Given the description of an element on the screen output the (x, y) to click on. 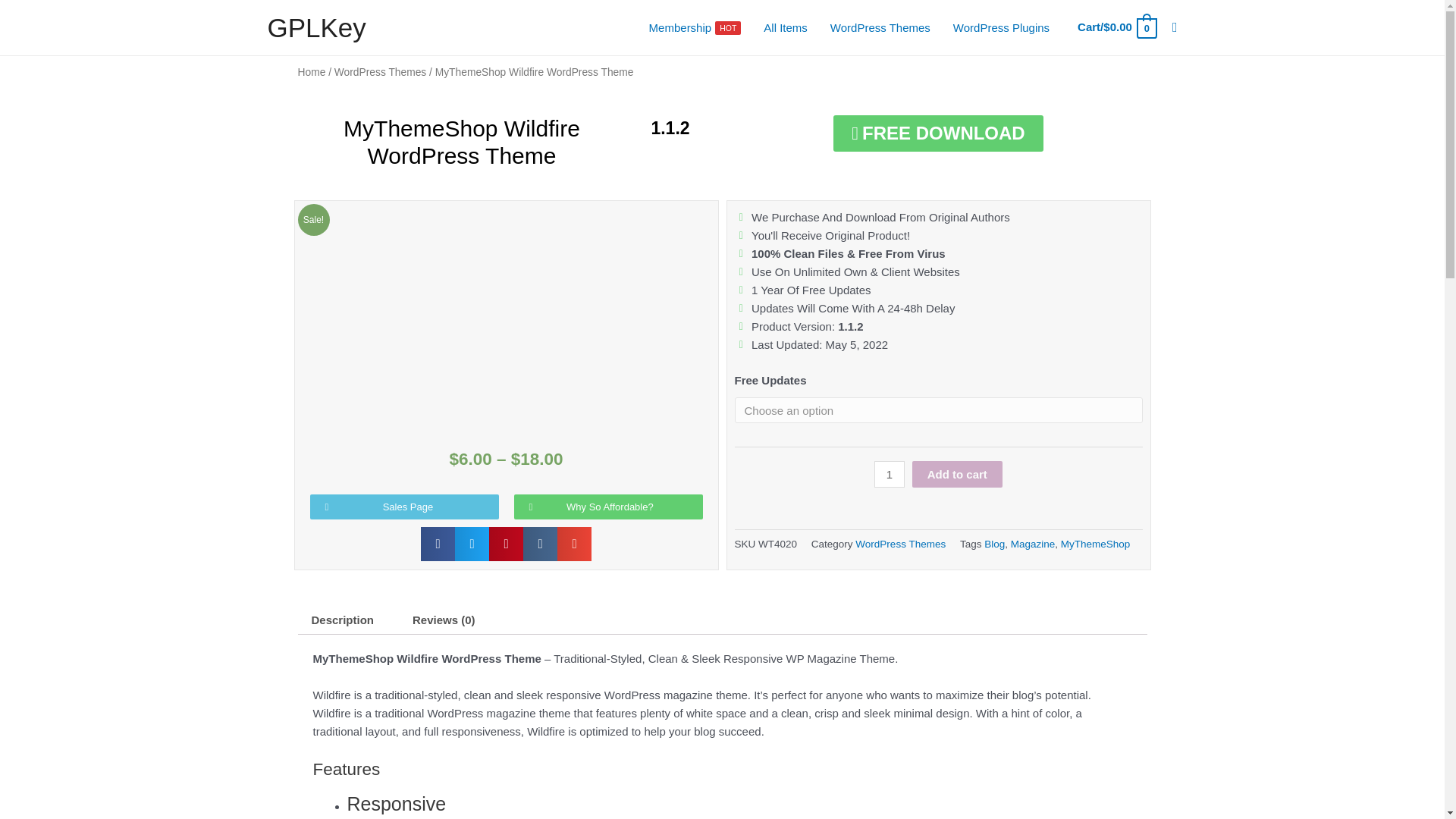
GPLKey (315, 27)
1 (889, 474)
WordPress Themes (880, 27)
All Items (785, 27)
WordPress Plugins (694, 27)
